Given the description of an element on the screen output the (x, y) to click on. 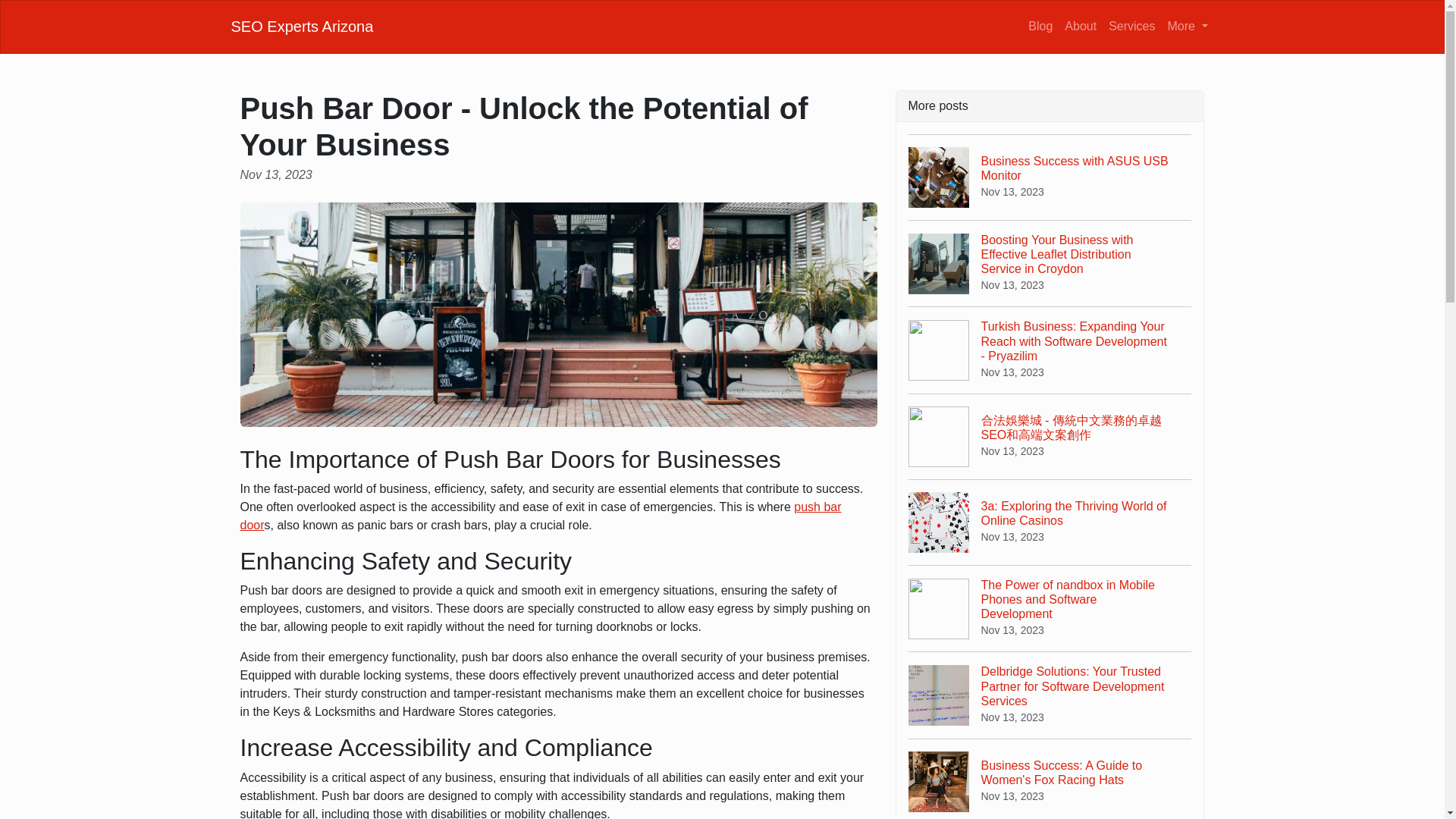
push bar door (540, 515)
SEO Experts Arizona (301, 26)
More (1187, 26)
Blog (1040, 26)
Services (1131, 26)
